Given the description of an element on the screen output the (x, y) to click on. 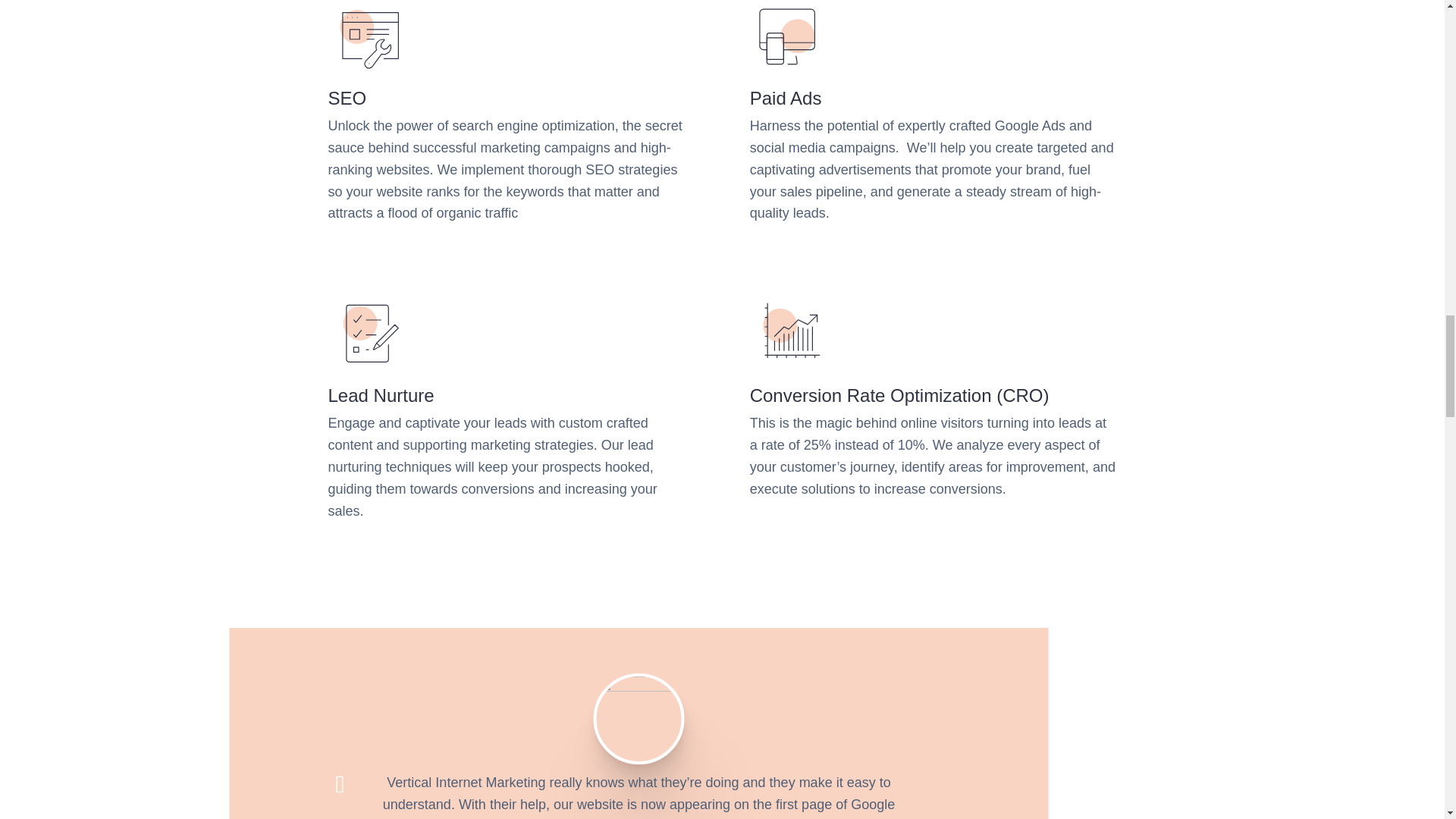
Shauna (638, 718)
